Given the description of an element on the screen output the (x, y) to click on. 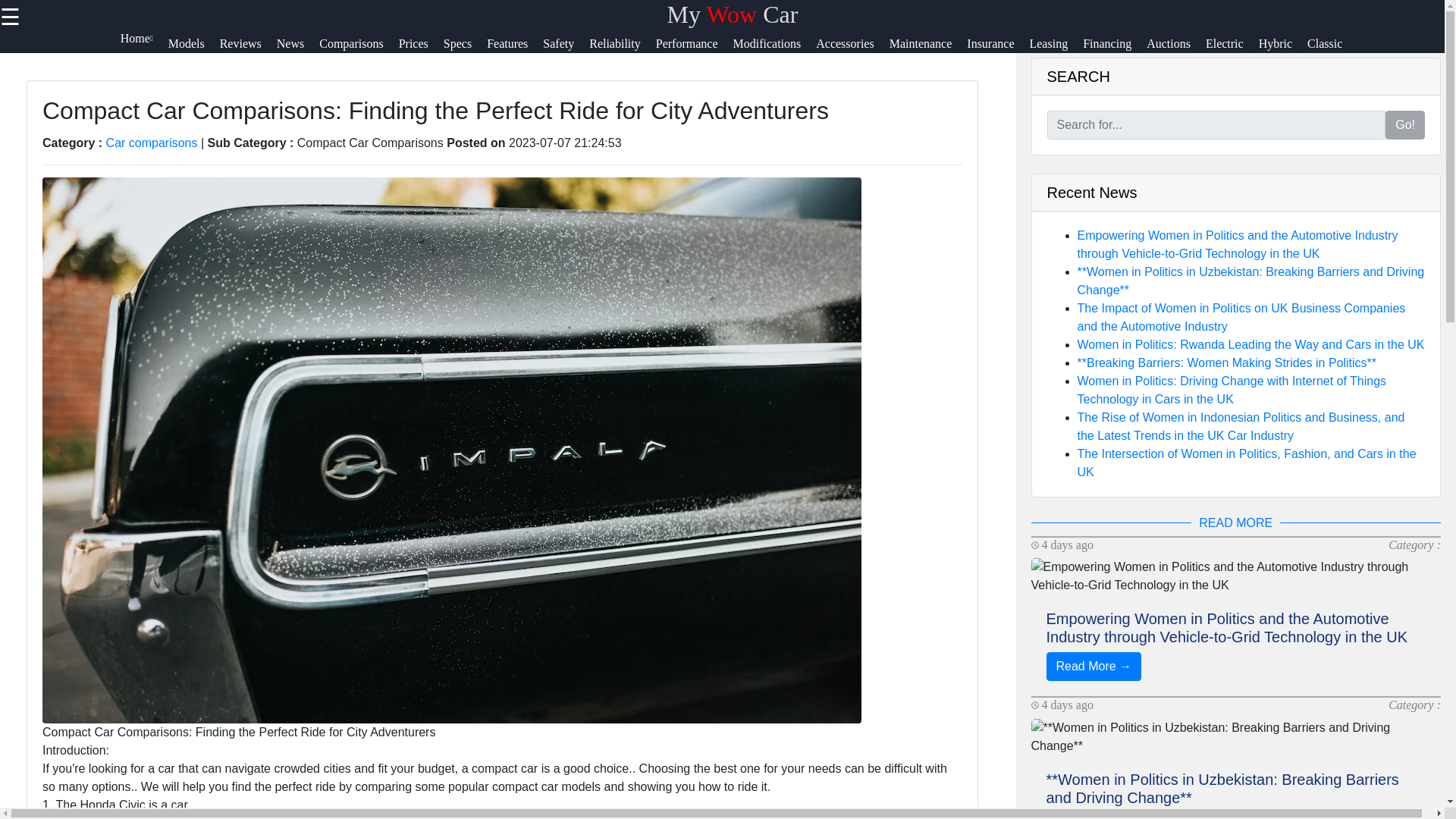
Prices (421, 50)
Insurance (997, 50)
Hybric (1283, 50)
My Wow Car (731, 13)
Classic (1331, 50)
Models (193, 50)
News (297, 50)
Safety (566, 50)
Electric (1232, 50)
Reviews (247, 50)
